Given the description of an element on the screen output the (x, y) to click on. 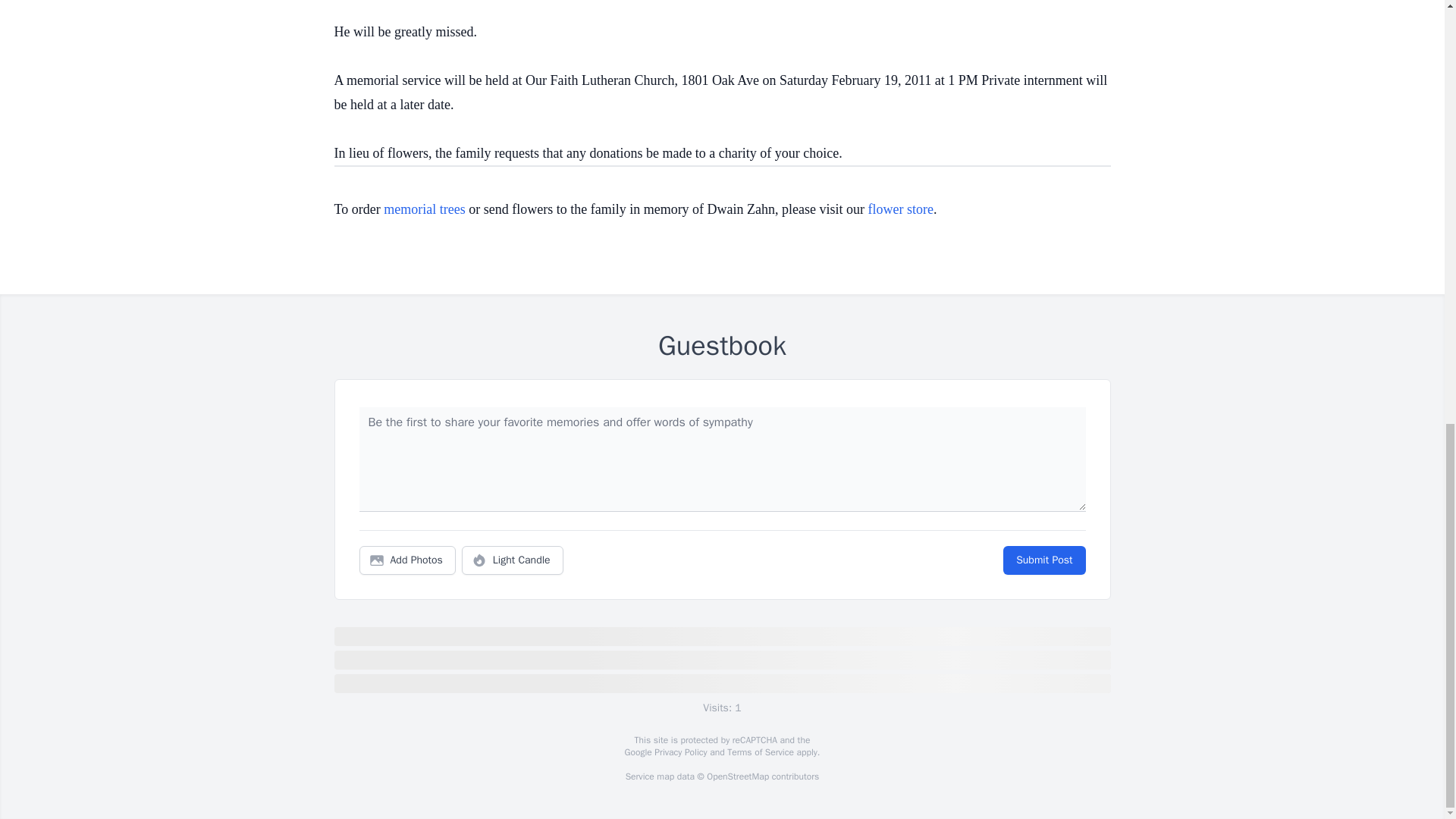
Terms of Service (759, 752)
Add Photos (407, 560)
Light Candle (512, 560)
flower store (900, 209)
OpenStreetMap (737, 776)
Privacy Policy (679, 752)
Submit Post (1043, 560)
memorial trees (424, 209)
